Given the description of an element on the screen output the (x, y) to click on. 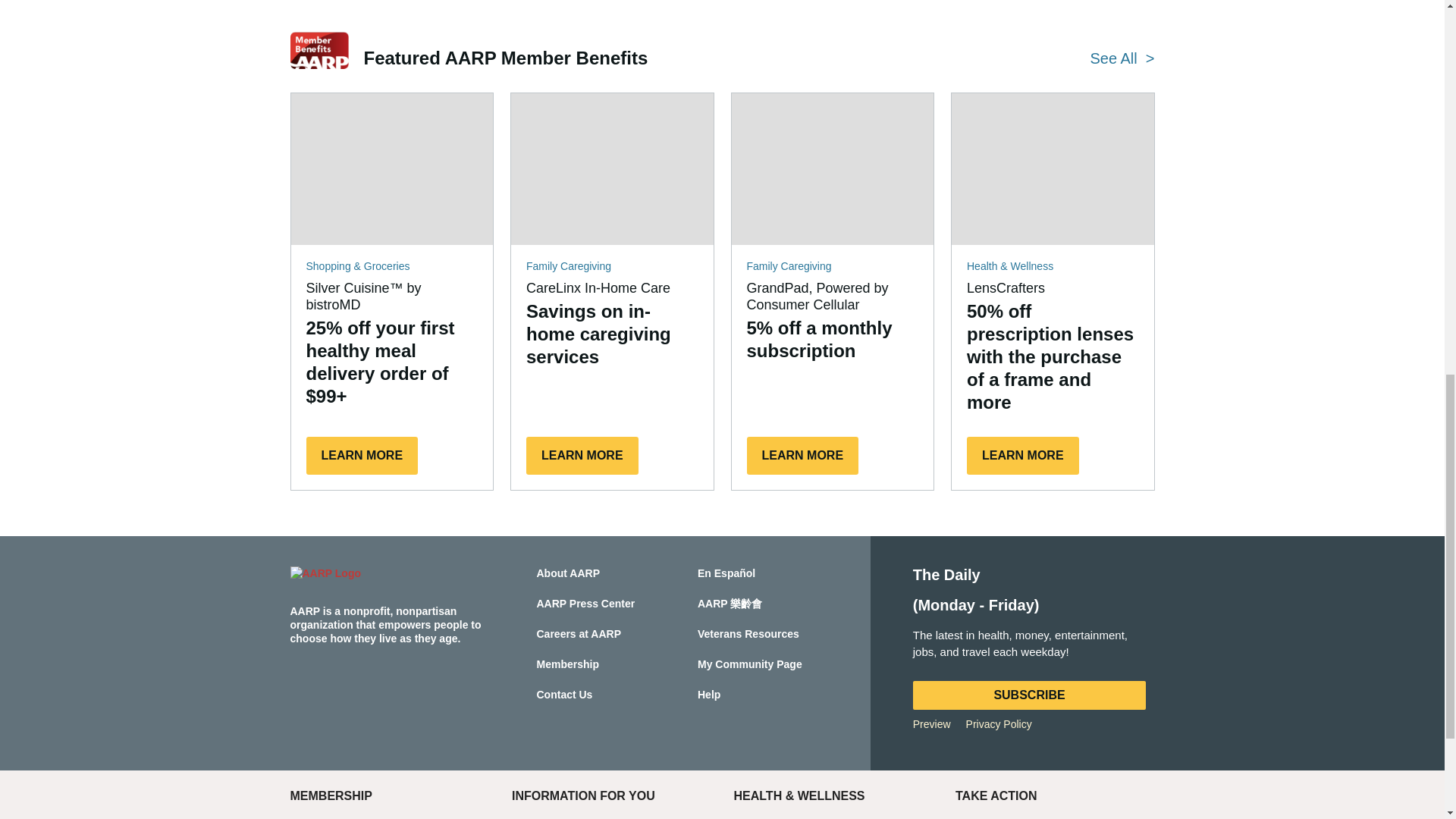
Shepherds pie, veg, drink (392, 168)
CareLinx In-Home Care (612, 168)
GrandPad, Powered by Consumer Cellular (831, 168)
